Given the description of an element on the screen output the (x, y) to click on. 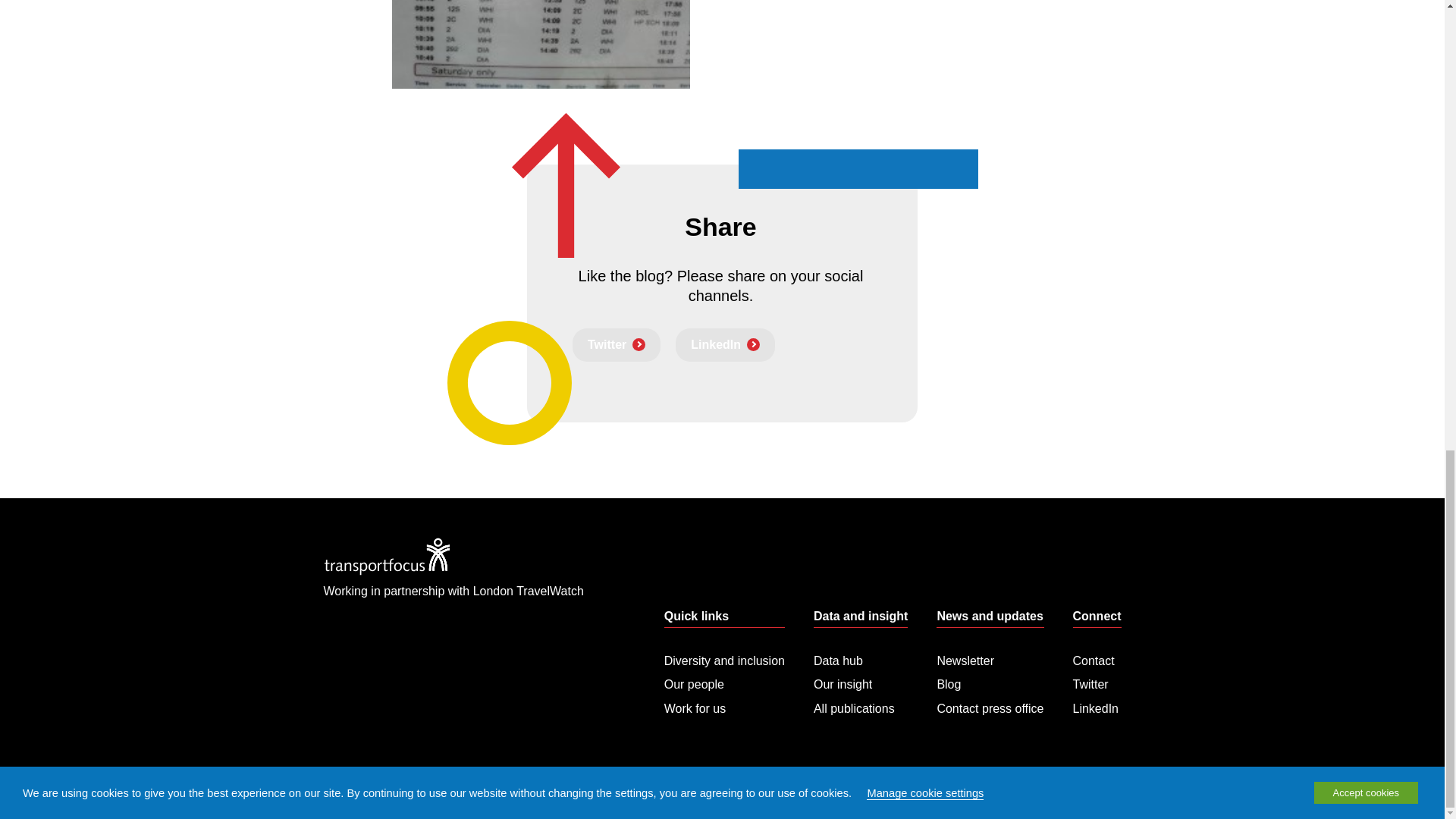
LinkedIn (724, 344)
Twitter (616, 344)
